Given the description of an element on the screen output the (x, y) to click on. 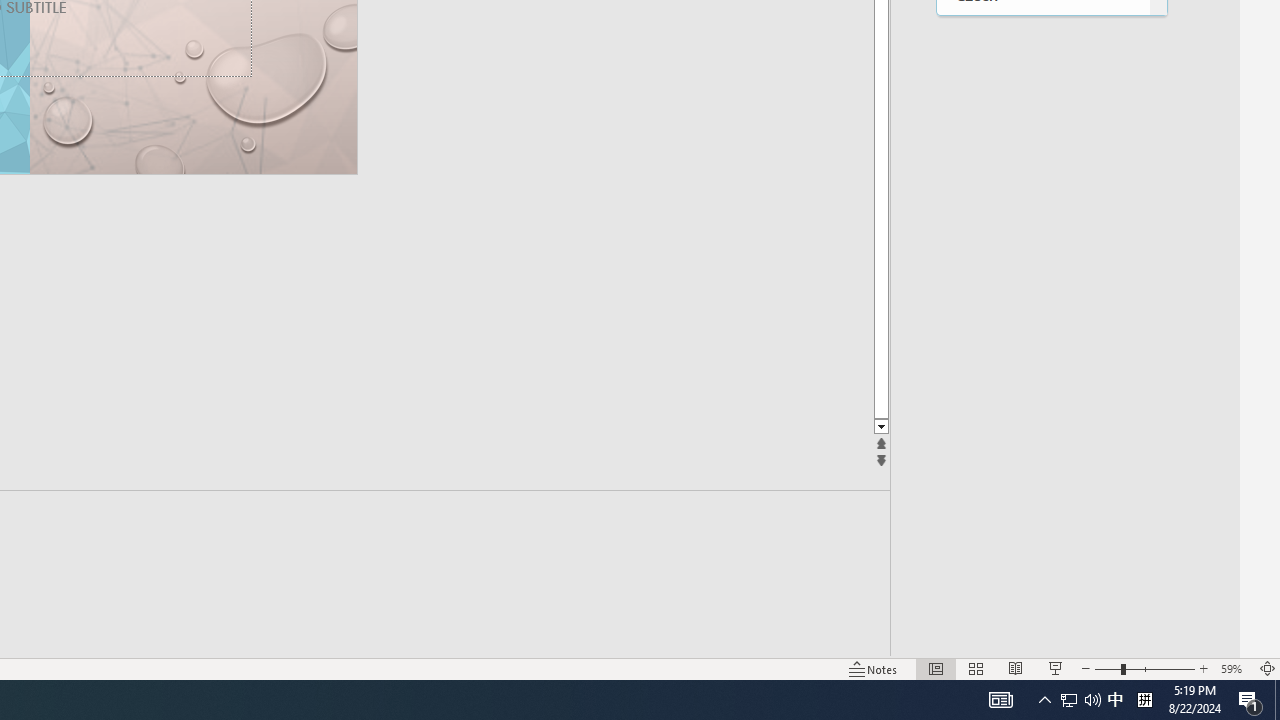
Estonian (1042, 279)
Dogri (1042, 156)
Fijian (1042, 362)
Finnish (1042, 444)
English (1042, 238)
Ganda (1042, 608)
